Given the description of an element on the screen output the (x, y) to click on. 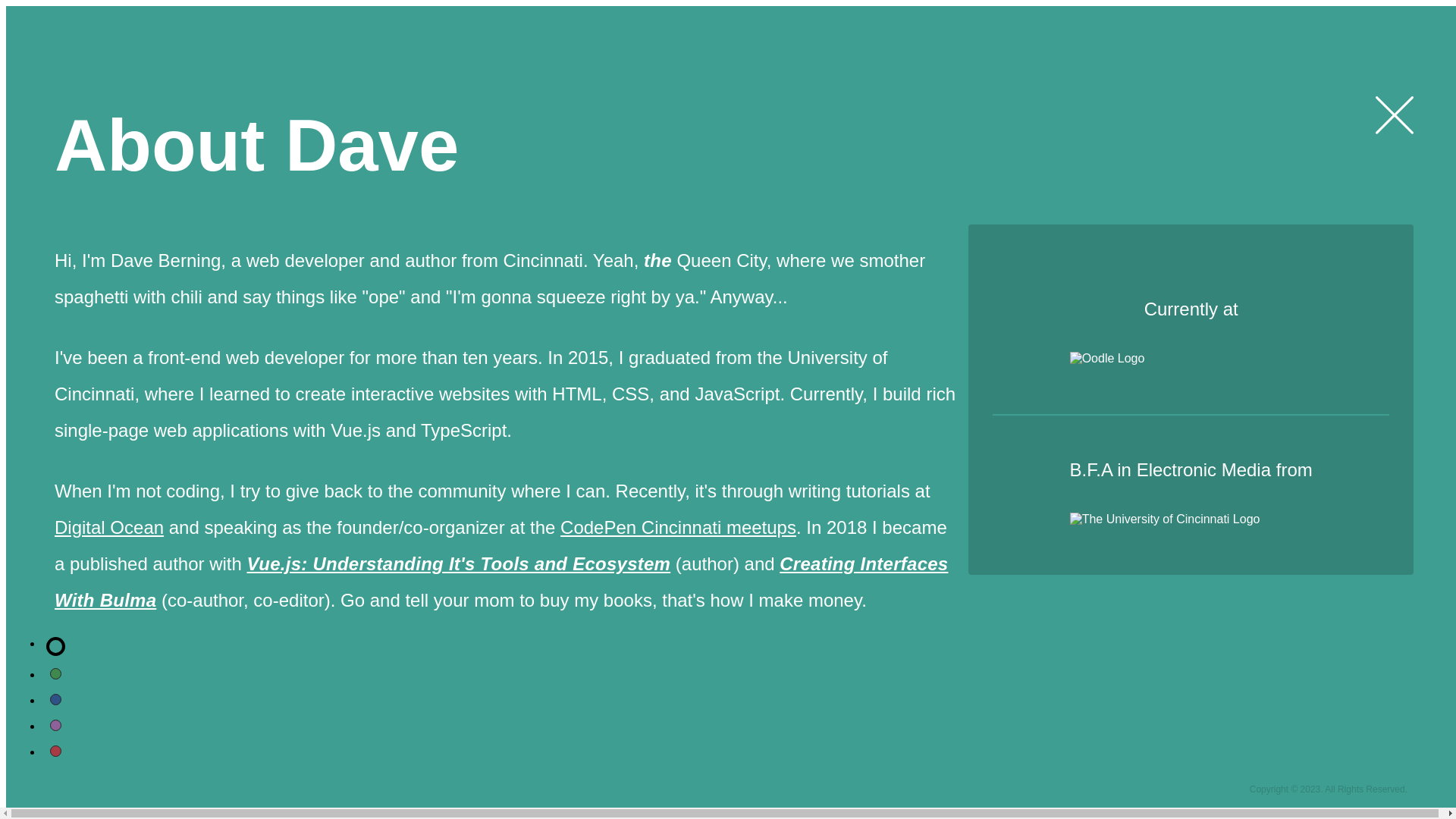
Vue.js: Understanding It's Tools and Ecosystem (459, 563)
CodePen Cincinnati meetups (678, 526)
Digital Ocean (109, 526)
Creating Interfaces With Bulma (501, 581)
